Given the description of an element on the screen output the (x, y) to click on. 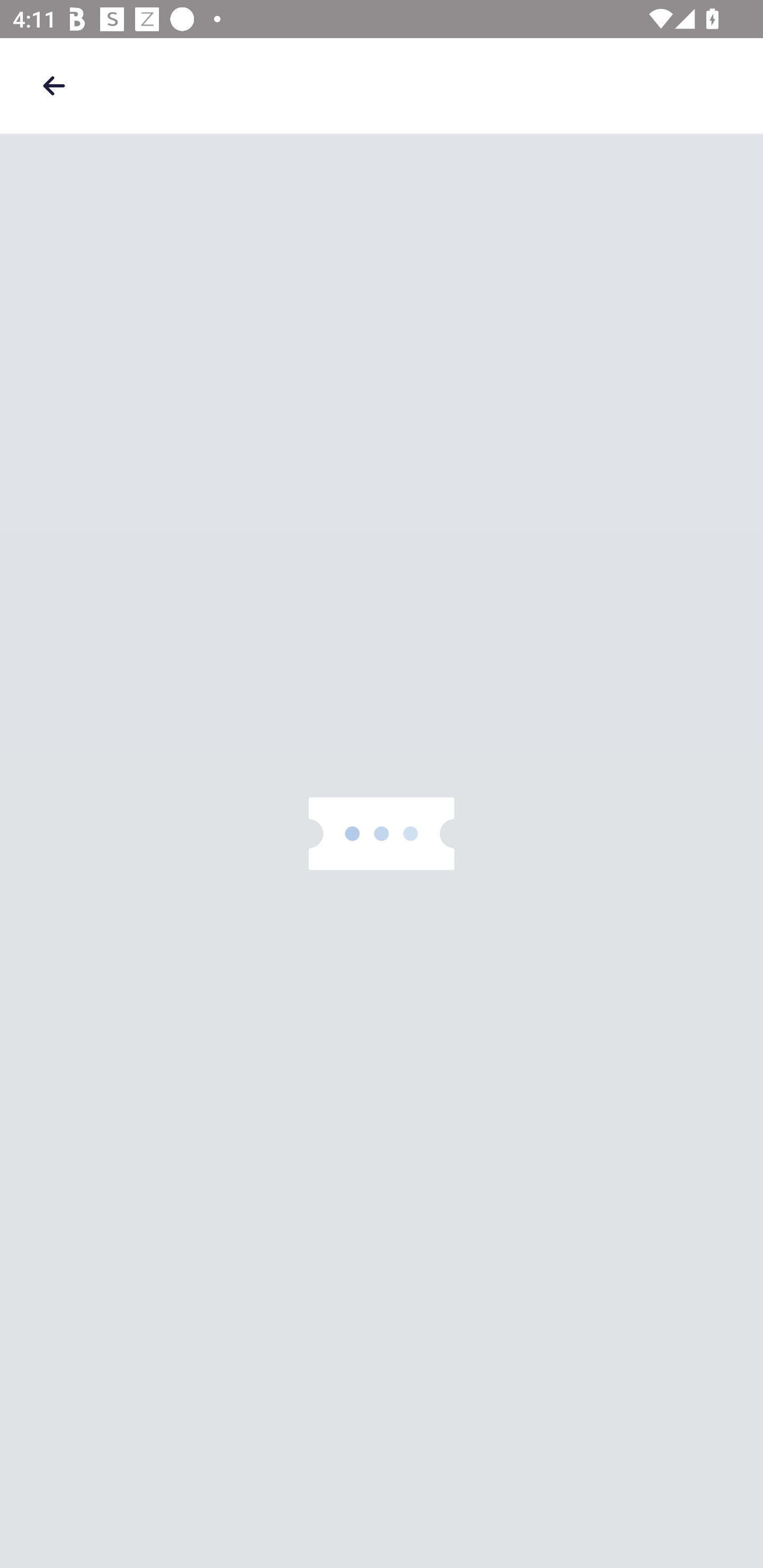
back button (53, 85)
